Given the description of an element on the screen output the (x, y) to click on. 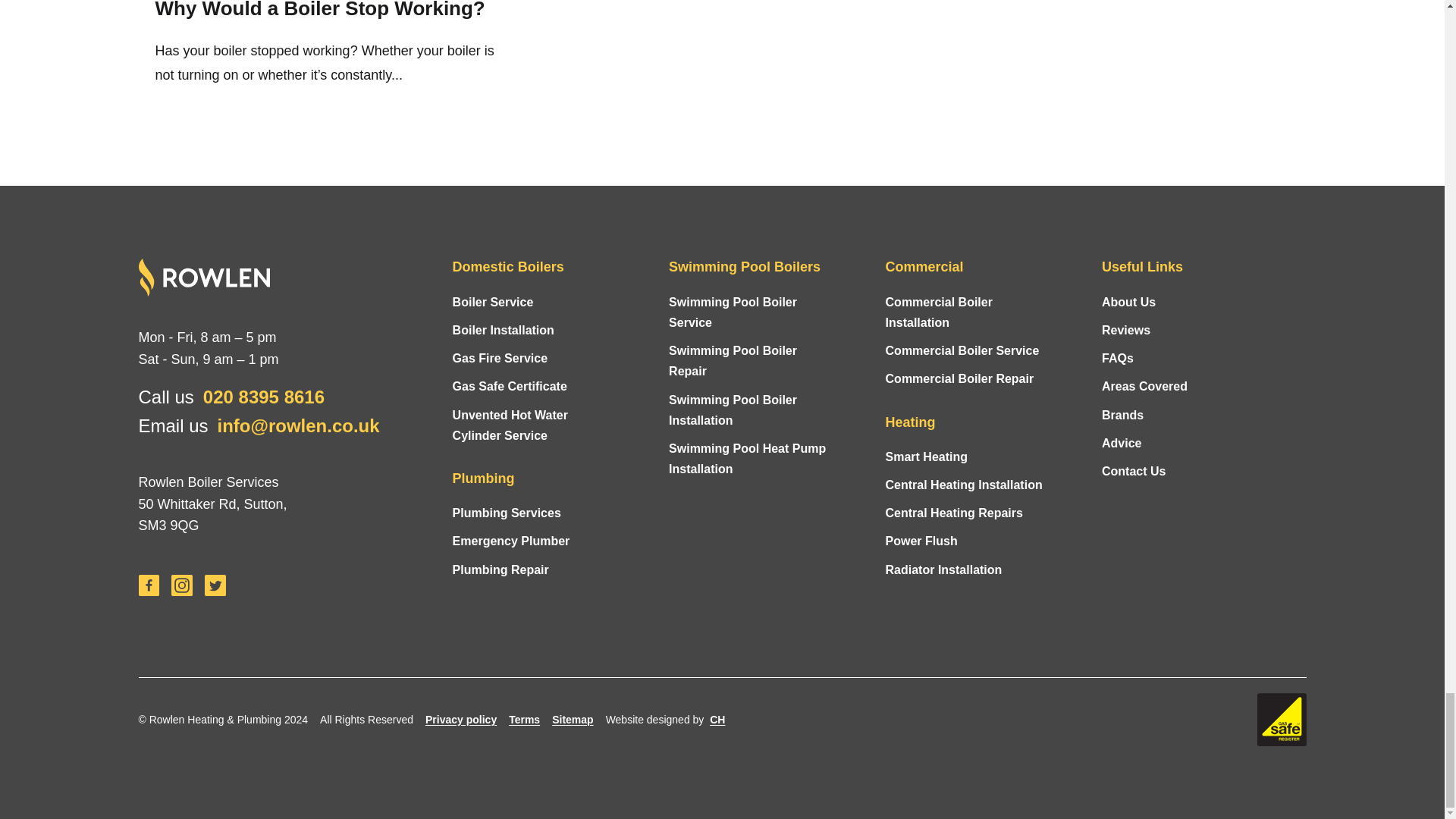
Email us (298, 425)
Call us (263, 396)
